Given the description of an element on the screen output the (x, y) to click on. 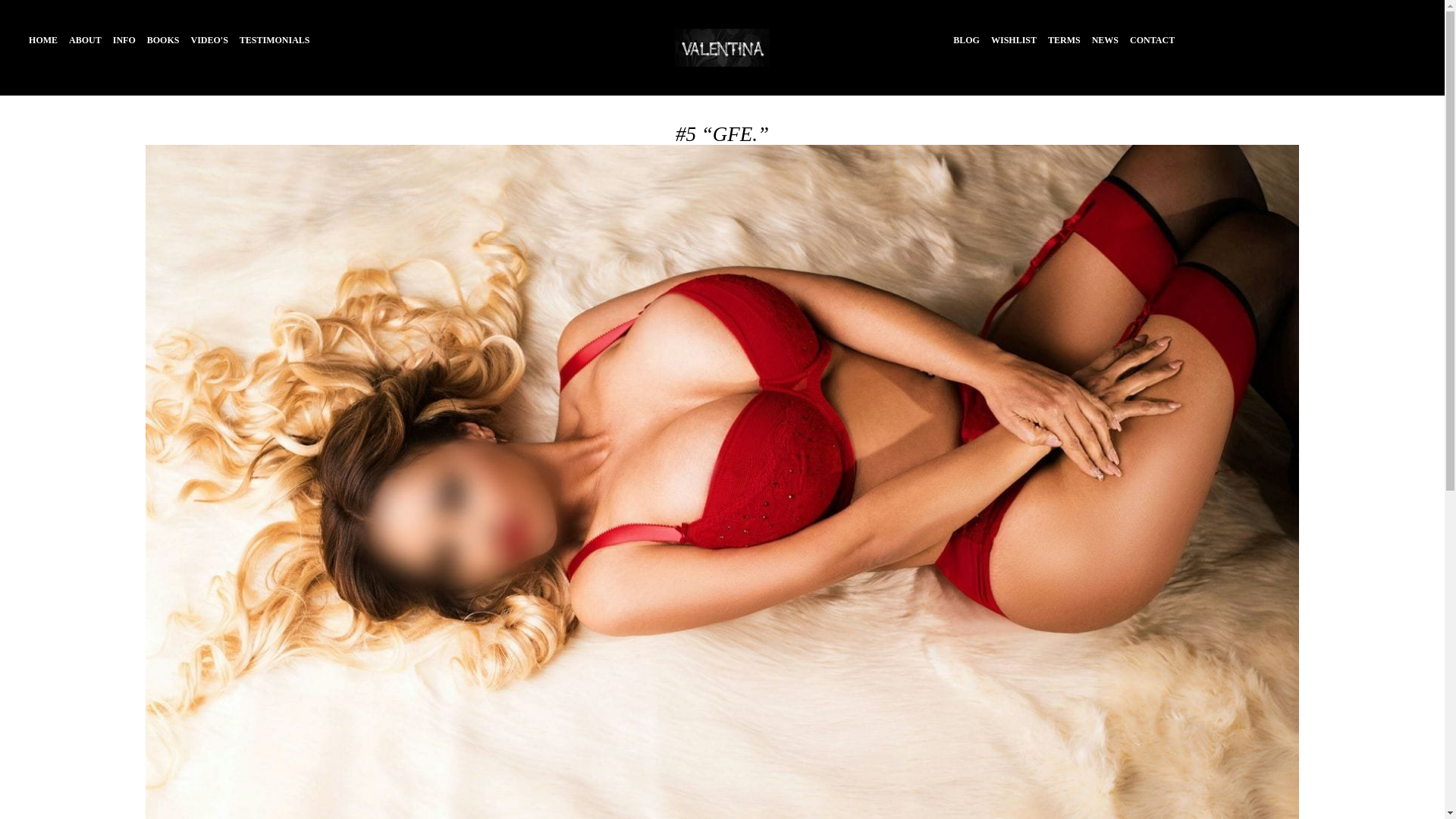
TESTIMONIALS (275, 40)
INFO (124, 40)
ABOUT (84, 40)
BOOKS (163, 40)
CONTACT (1151, 40)
NEWS (1105, 40)
WISHLIST (1013, 40)
TERMS (1064, 40)
VIDEO'S (208, 40)
HOME (43, 40)
